Given the description of an element on the screen output the (x, y) to click on. 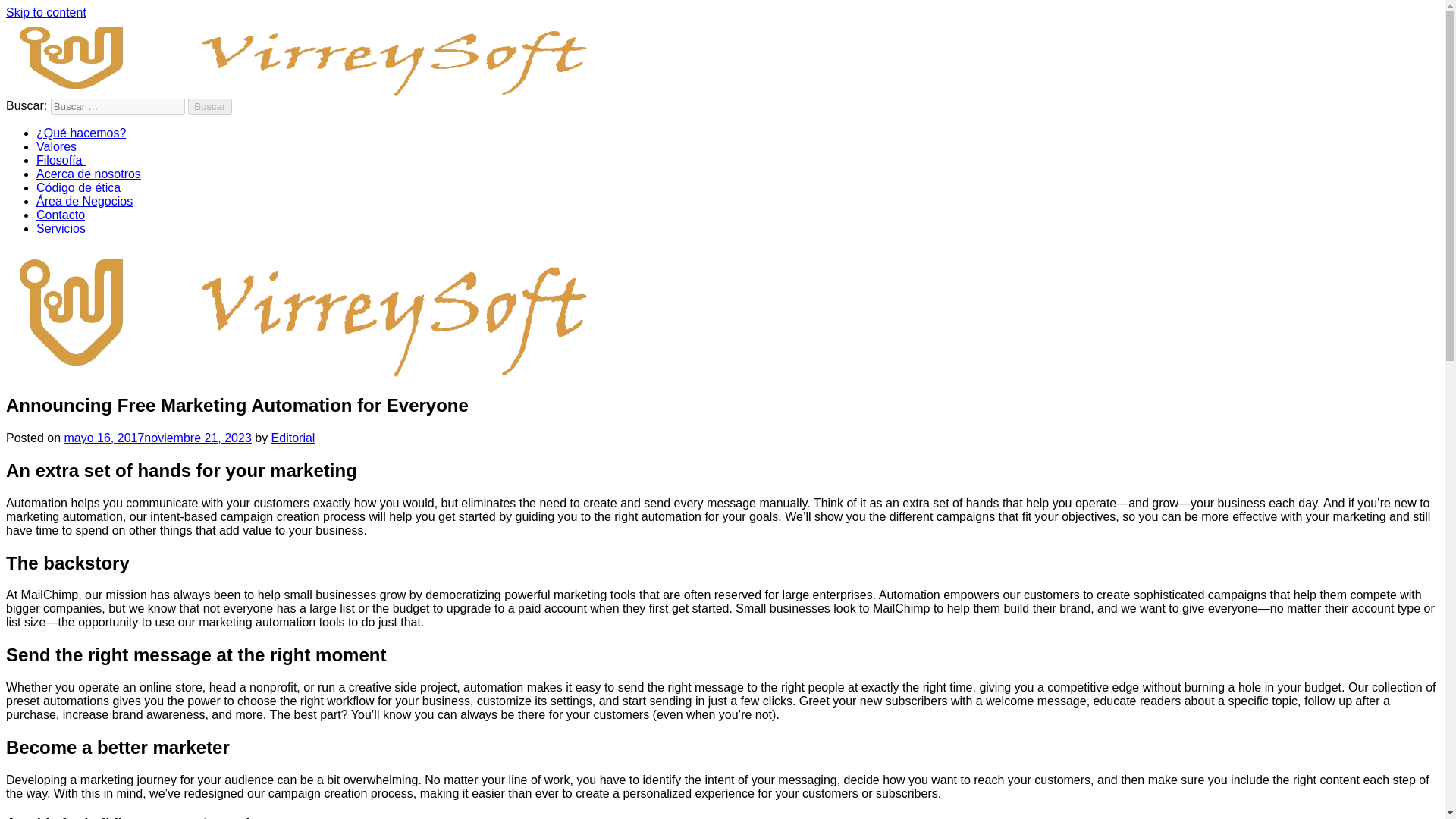
Skip to content (45, 11)
Contacto (60, 214)
Editorial (292, 437)
VirreySoft- Expertos en mejora Regulatoria (121, 104)
Buscar (209, 106)
Buscar (209, 106)
Valores (56, 146)
Buscar (209, 106)
Servicios (60, 228)
Acerca de nosotros (88, 173)
